Given the description of an element on the screen output the (x, y) to click on. 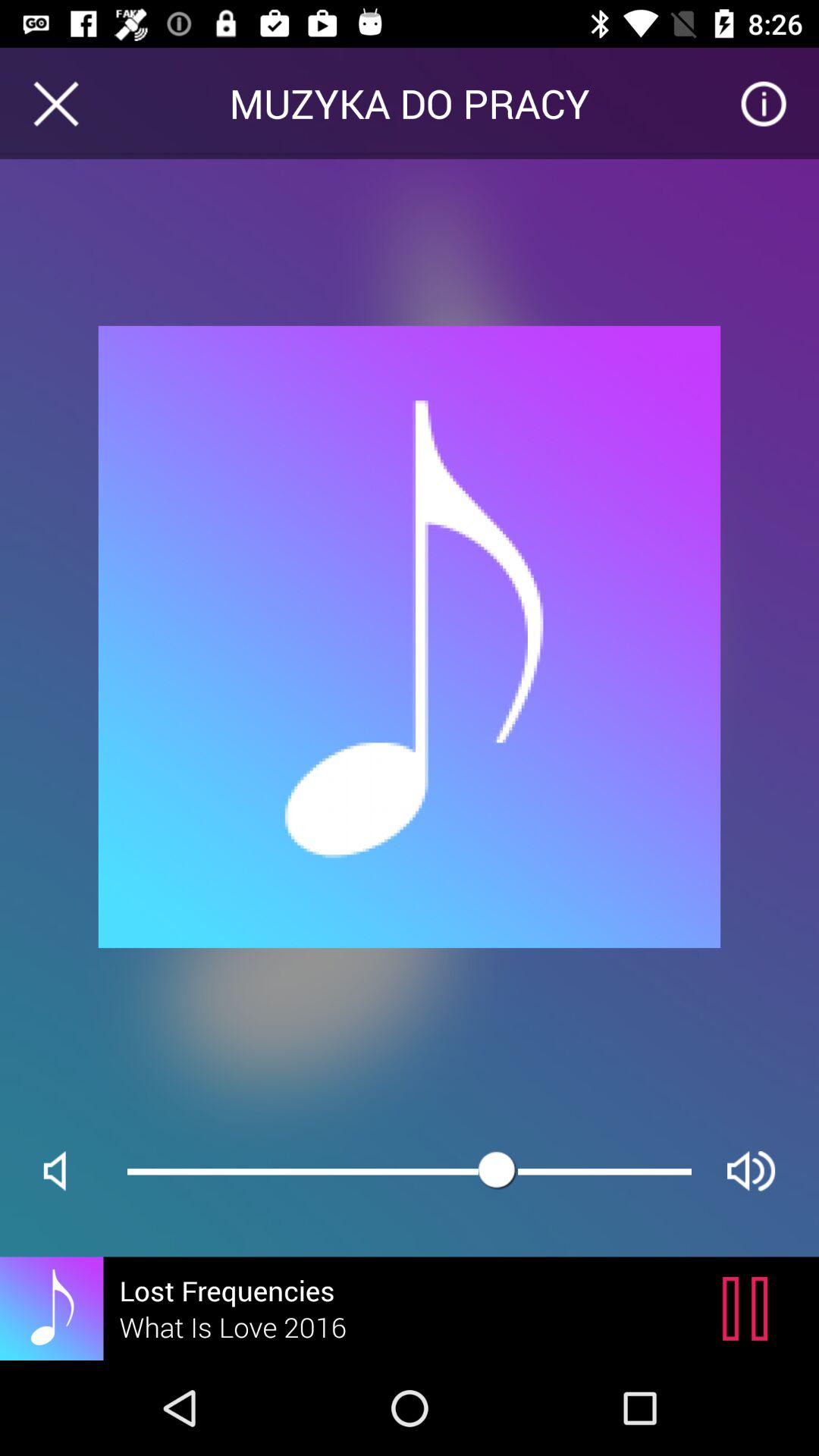
press item at the top right corner (763, 103)
